Given the description of an element on the screen output the (x, y) to click on. 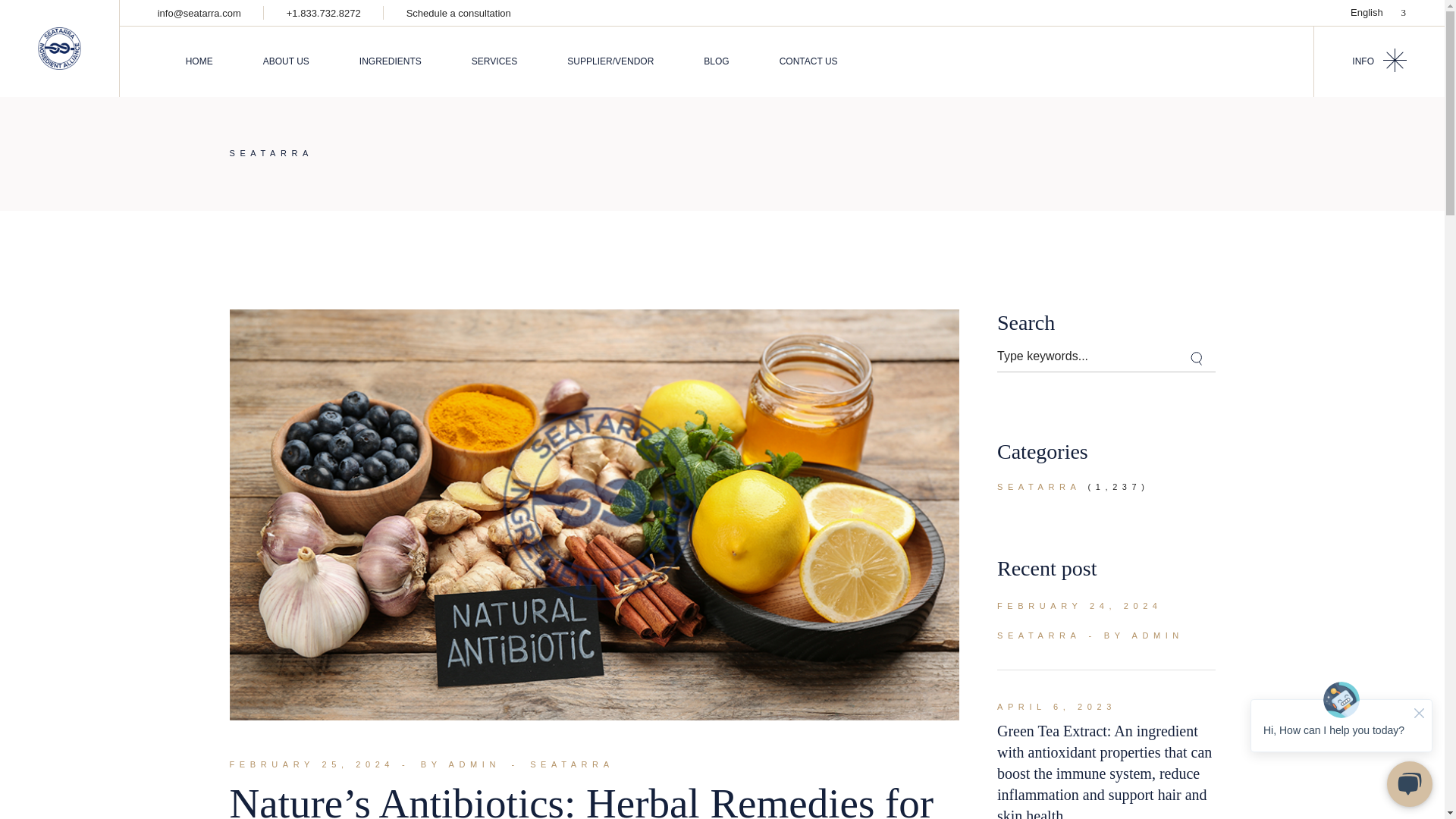
English (1377, 12)
Title Text:  (1056, 707)
Title Text:  (1079, 606)
Schedule a consultation (458, 12)
INFO (1379, 61)
